Given the description of an element on the screen output the (x, y) to click on. 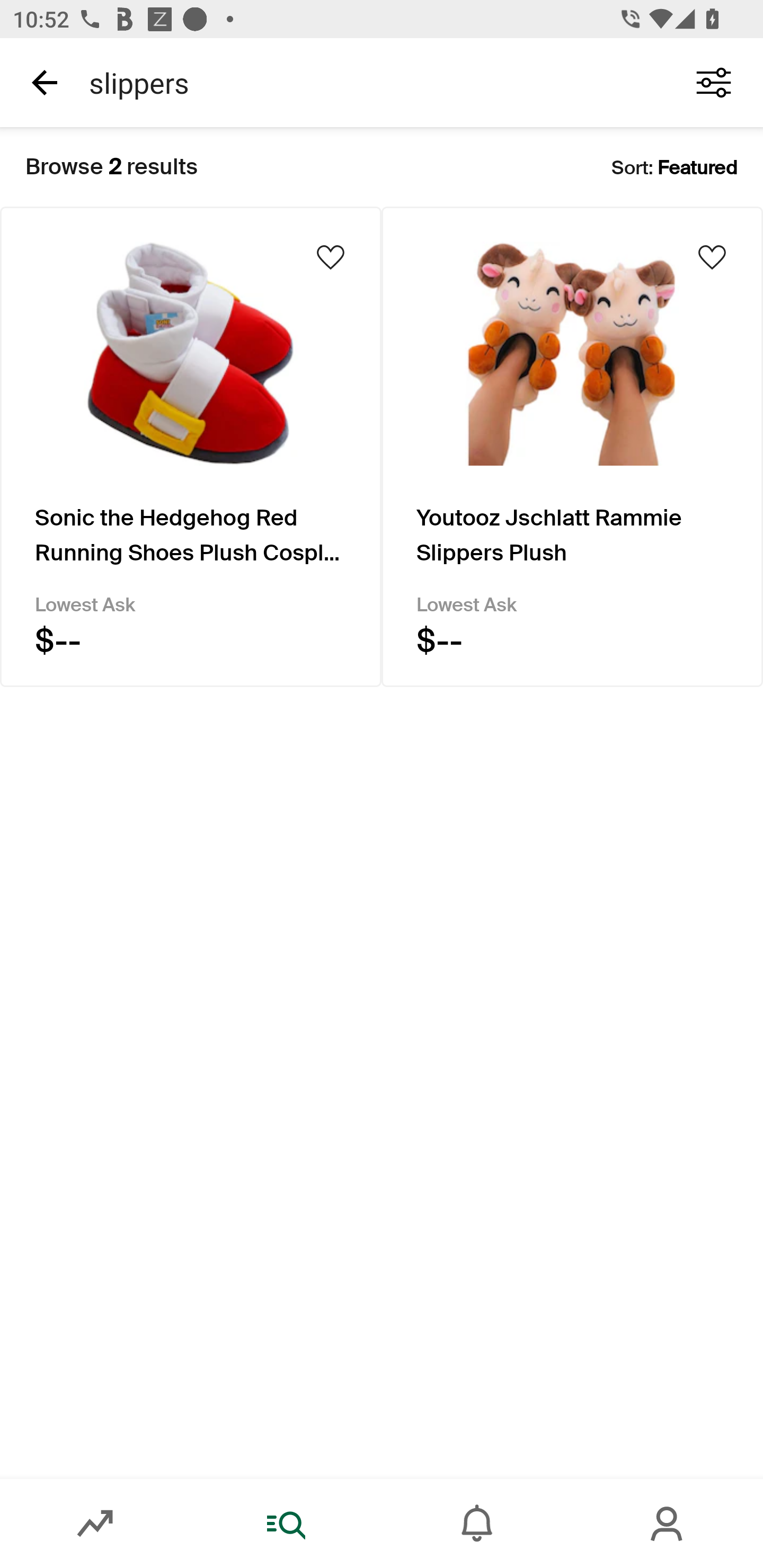
slippers (370, 82)
Market (95, 1523)
Inbox (476, 1523)
Account (667, 1523)
